Given the description of an element on the screen output the (x, y) to click on. 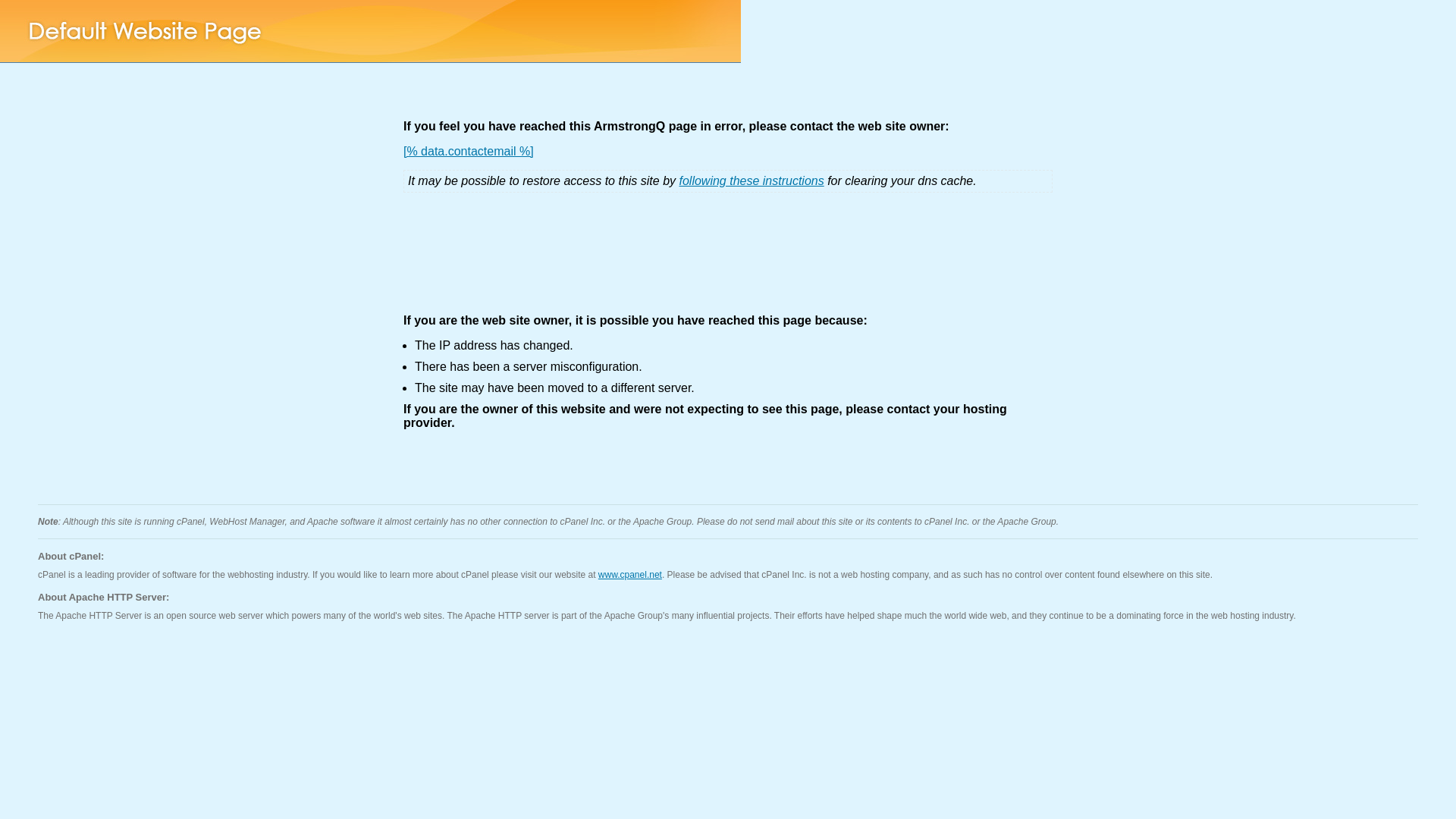
www.cpanel.net Element type: text (630, 574)
following these instructions Element type: text (751, 180)
[% data.contactemail %] Element type: text (468, 150)
